Given the description of an element on the screen output the (x, y) to click on. 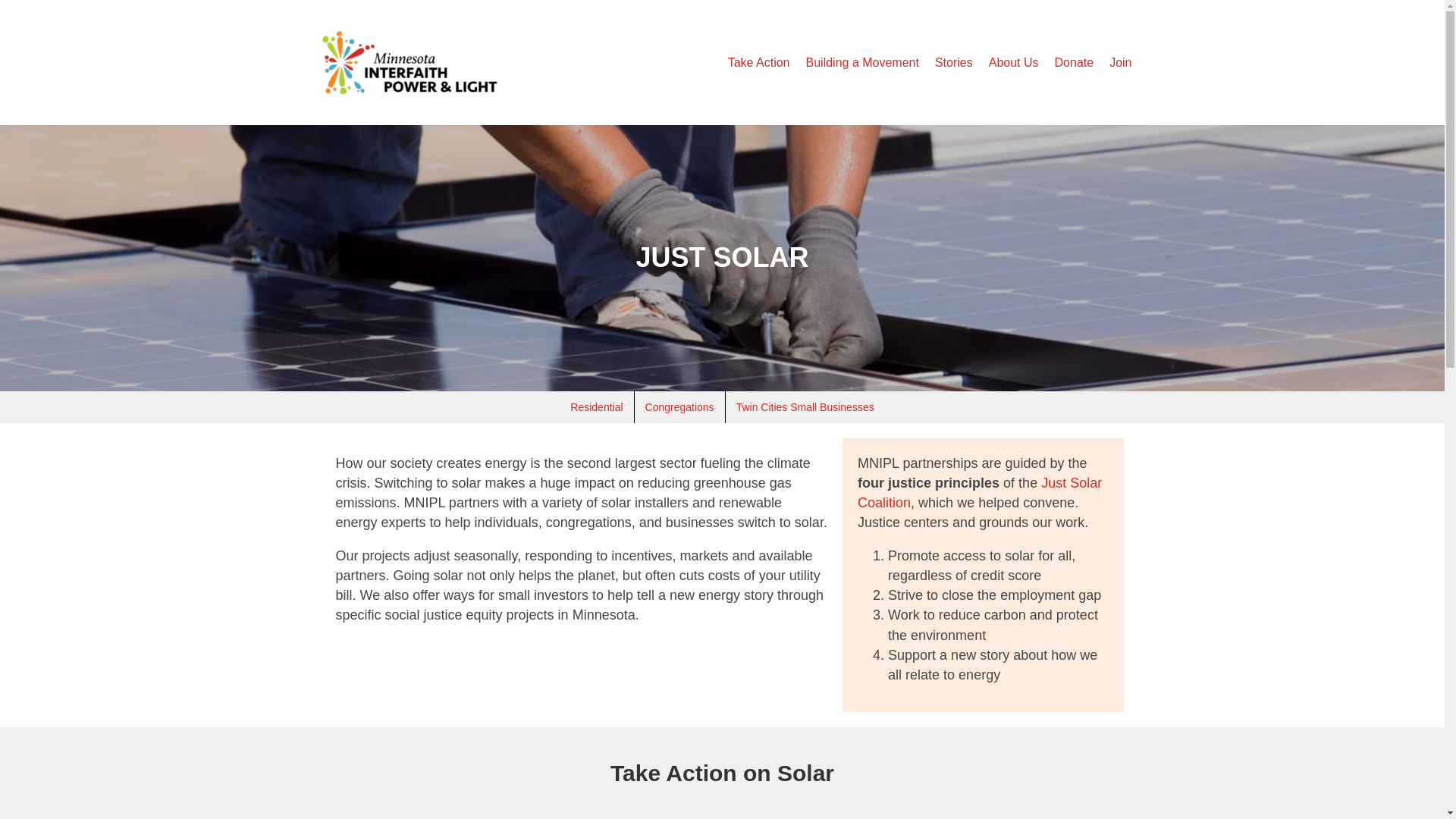
Stories (953, 61)
Take Action (758, 61)
mnipl-2016-logo4 (409, 62)
Building a Movement (861, 61)
About Us (1013, 61)
